Given the description of an element on the screen output the (x, y) to click on. 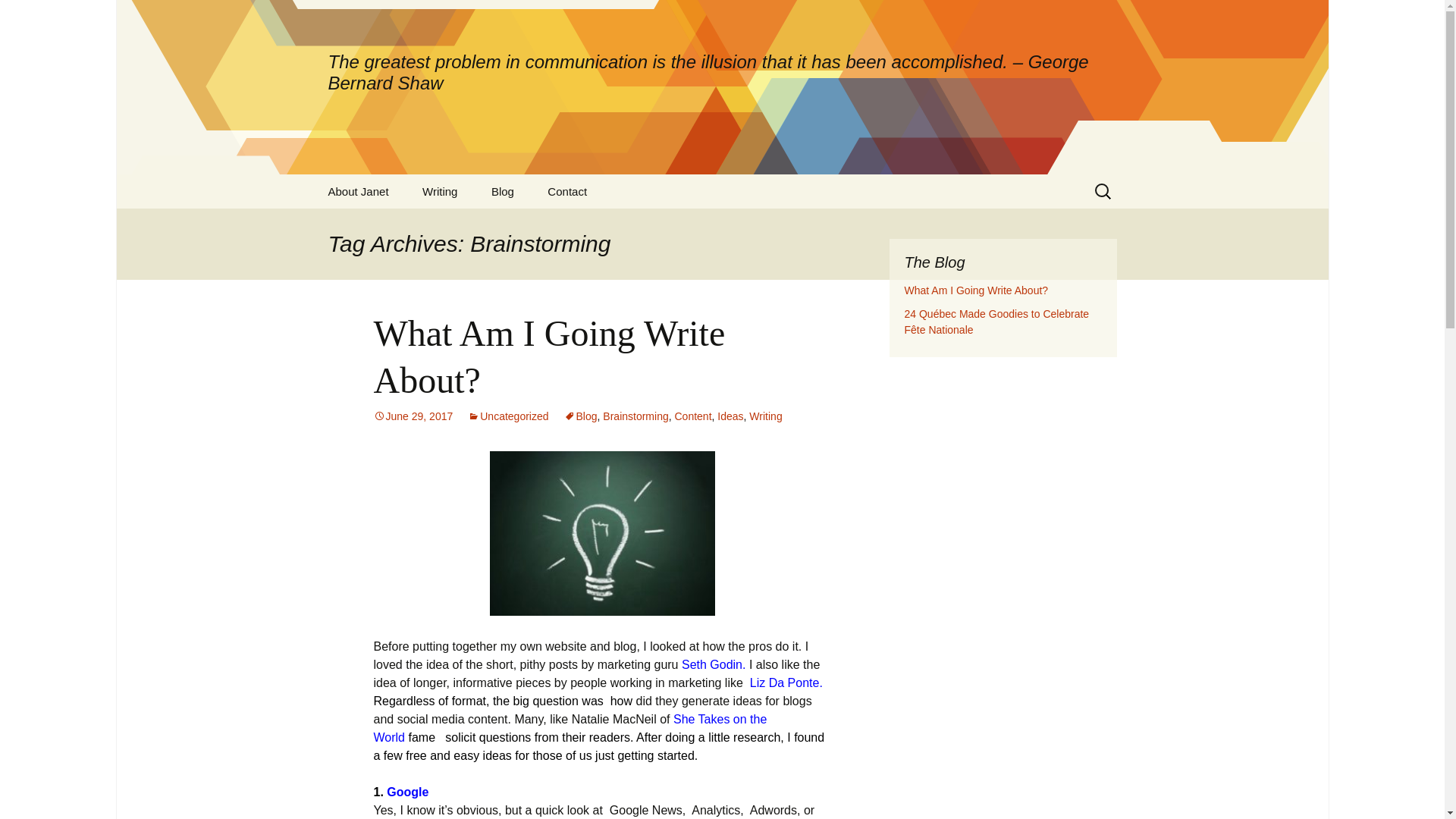
Brainstorming (635, 416)
Contact (567, 191)
Writing (765, 416)
Blog (580, 416)
Permalink to What Am I Going Write About? (412, 416)
What Am I Going Write About? (976, 290)
What Am I Going Write About? (548, 356)
Ideas (729, 416)
Liz Da Ponte (784, 682)
Writing (439, 191)
June 29, 2017 (412, 416)
She Takes on the World (569, 727)
Uncategorized (507, 416)
Seth Godin (711, 664)
